Given the description of an element on the screen output the (x, y) to click on. 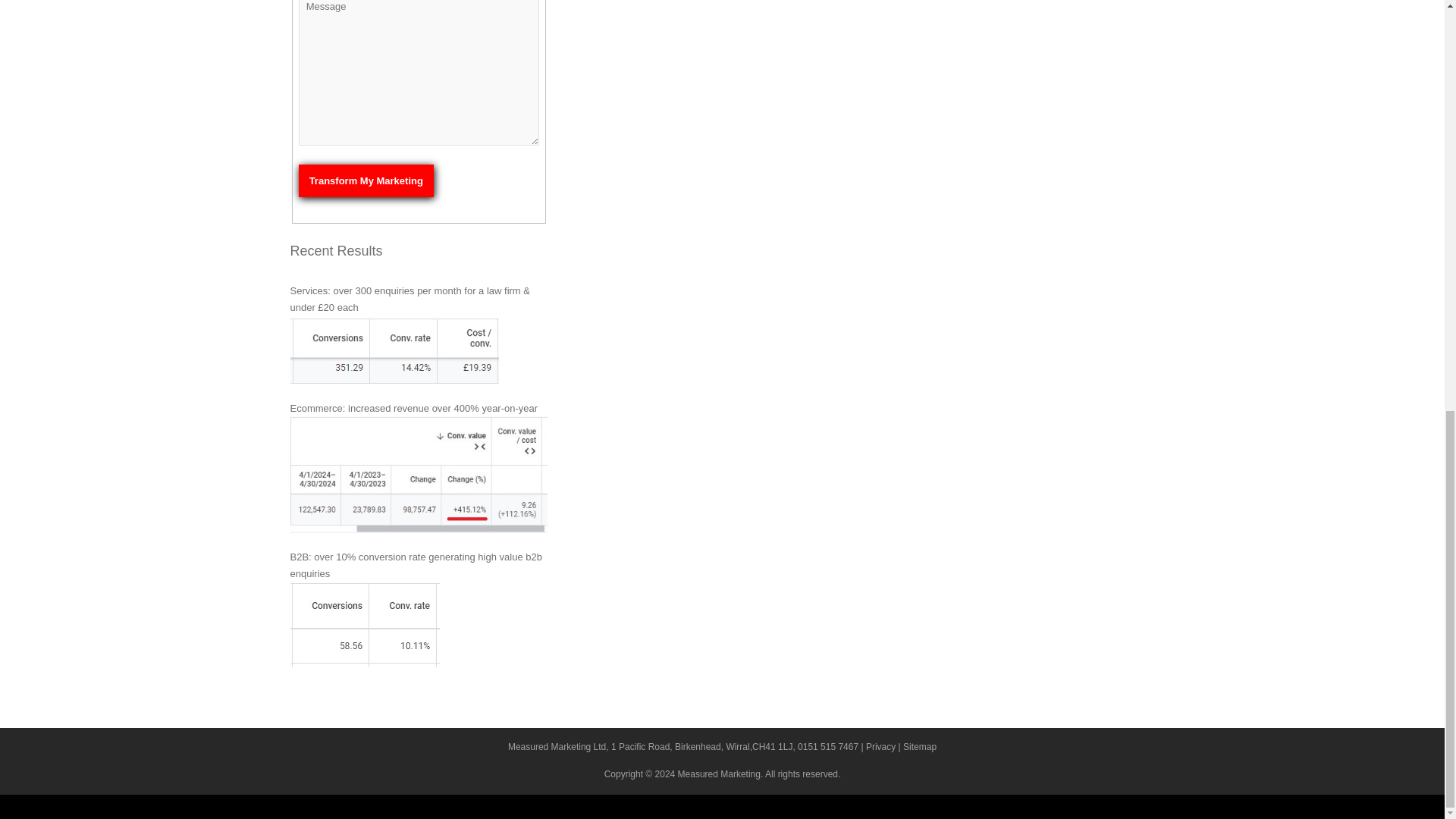
Transform My Marketing (365, 180)
